Given the description of an element on the screen output the (x, y) to click on. 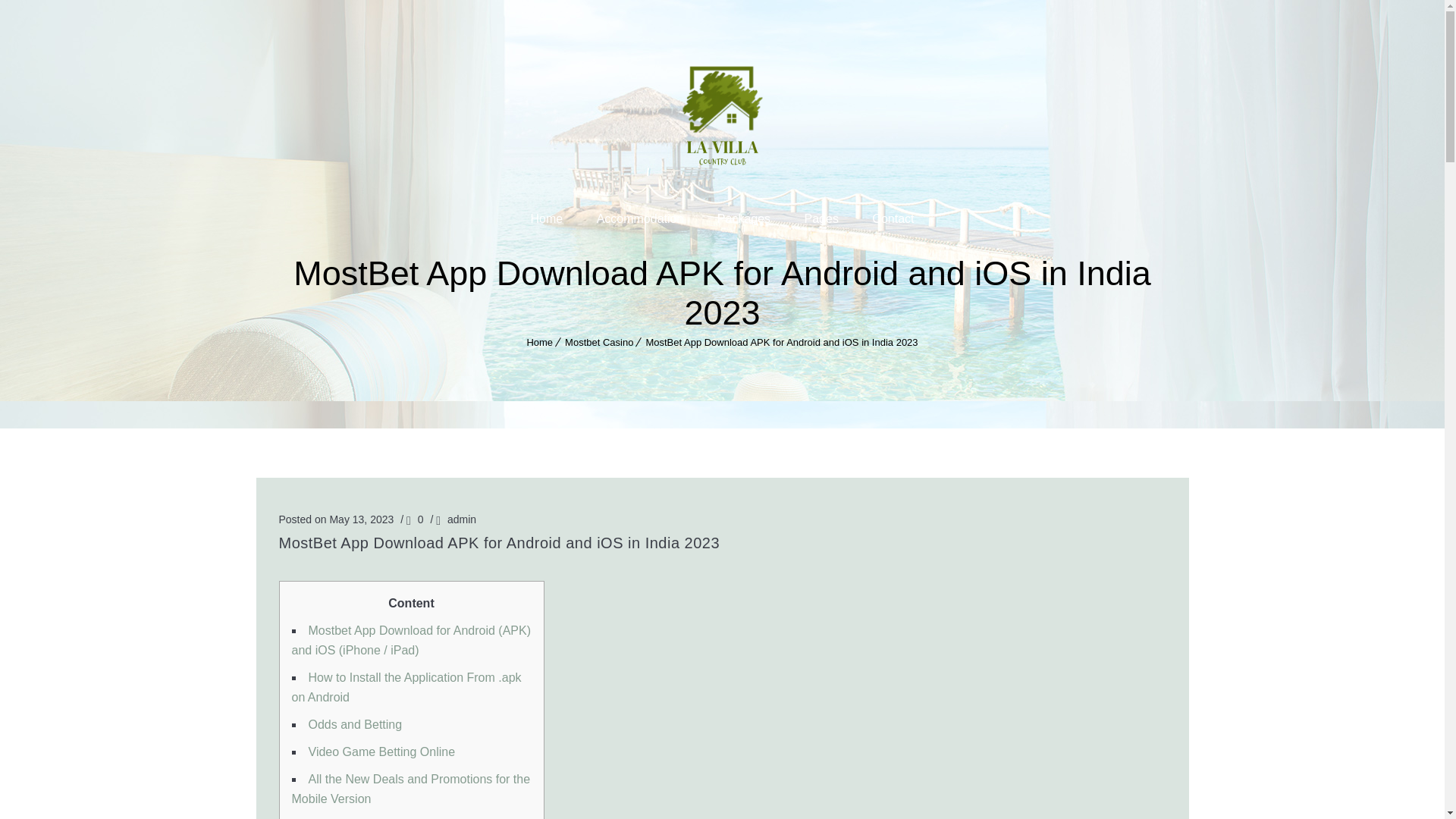
How to Install the Application From .apk on Android (406, 686)
Video Game Betting Online (380, 751)
Pages (821, 218)
la-villa (722, 114)
Odds and Betting (354, 724)
MostBet App Download APK for Android and iOS in India 2023 (722, 543)
Packages (743, 218)
Home (539, 342)
admin (461, 519)
Accommodation (639, 218)
Contact (892, 218)
MostBet App Download APK for Android and iOS in India 2023 (781, 342)
View all posts by admin (461, 519)
la-villa (722, 116)
